Given the description of an element on the screen output the (x, y) to click on. 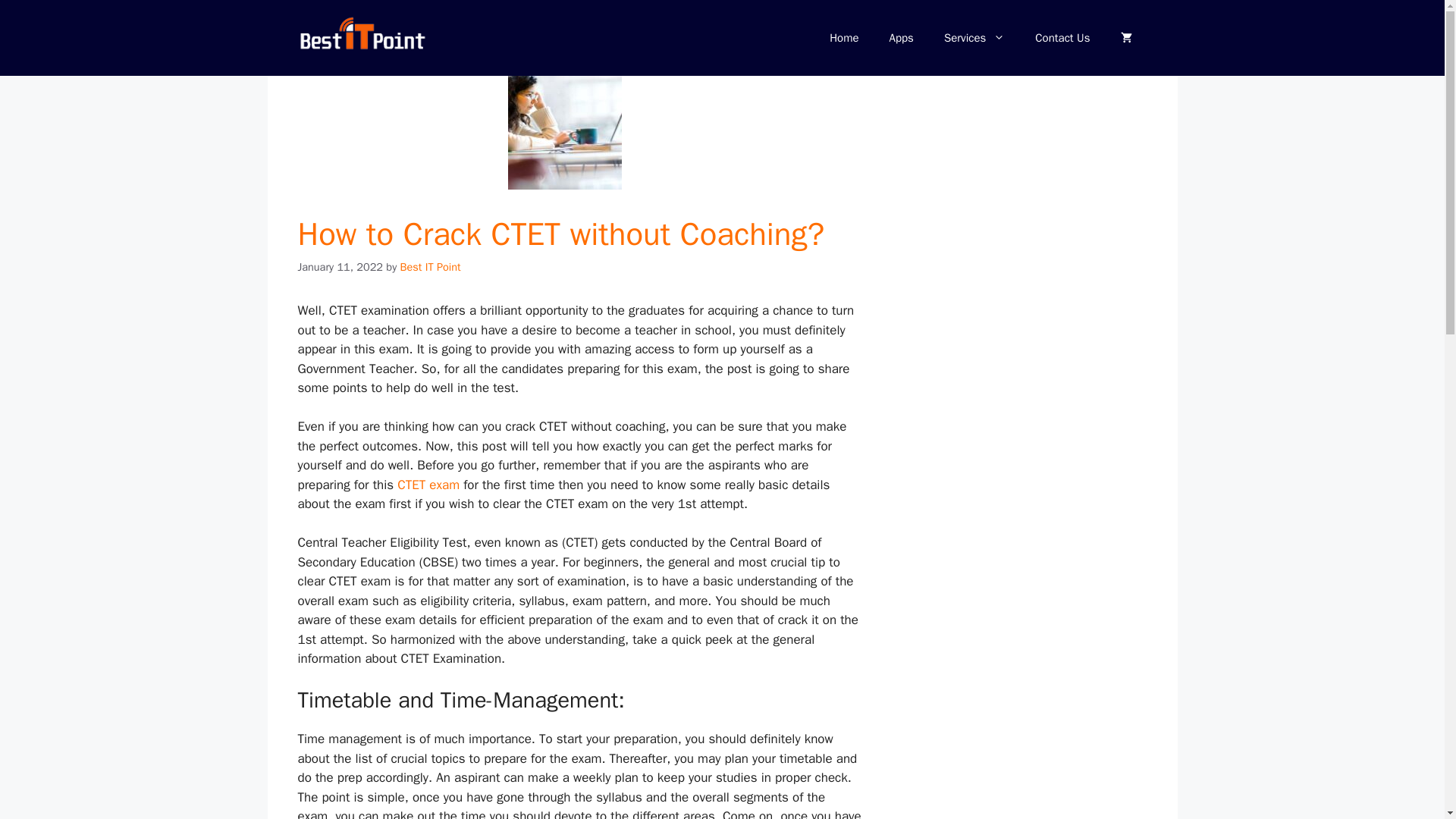
CTET exam (428, 484)
View all posts by Best IT Point (430, 266)
Contact Us (1062, 37)
Home (843, 37)
Best IT Point (430, 266)
Apps (901, 37)
Services (974, 37)
View your shopping cart (1126, 37)
